Given the description of an element on the screen output the (x, y) to click on. 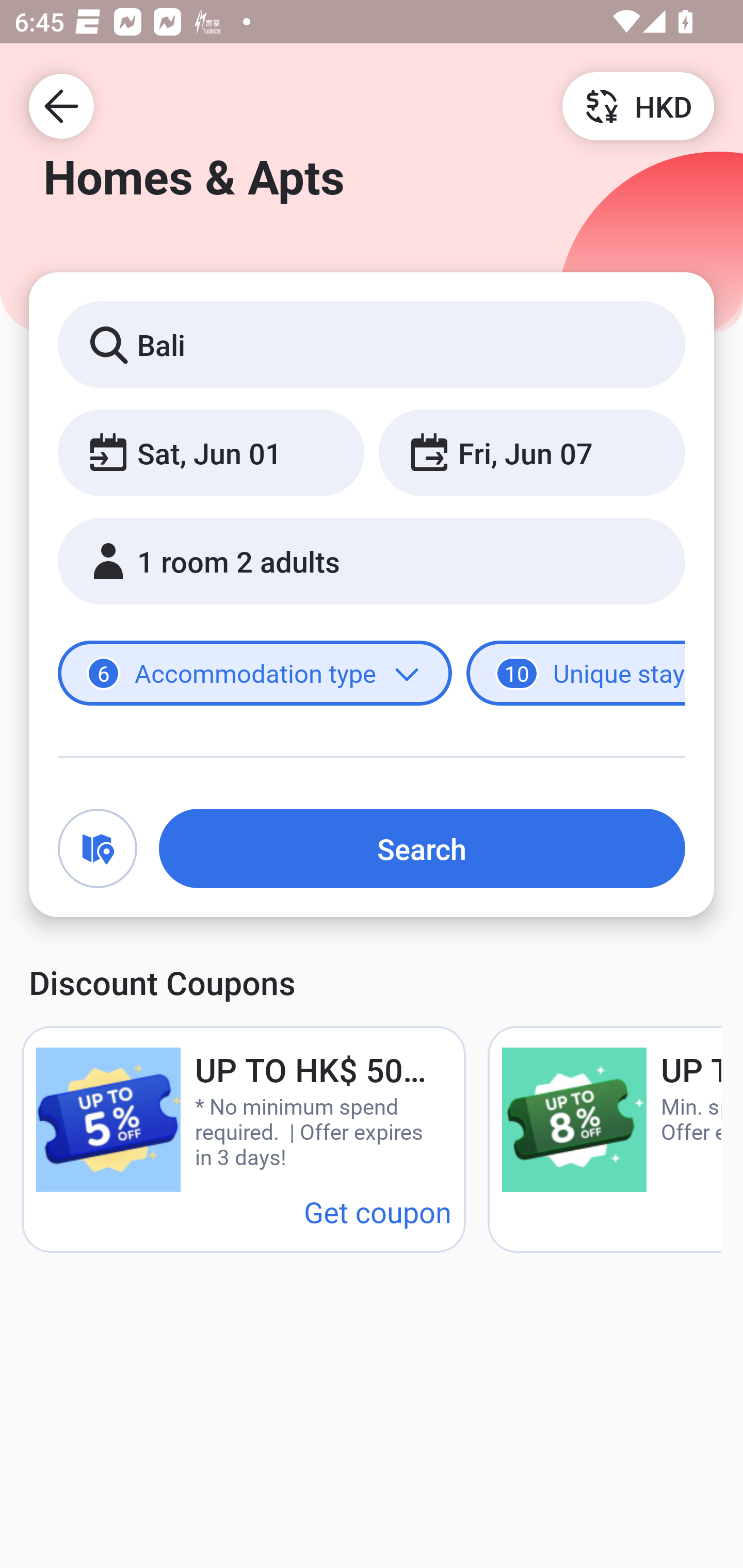
HKD (638, 105)
Bali (371, 344)
Sat, Jun 01 (210, 452)
Fri, Jun 07 (531, 452)
1 room 2 adults (371, 561)
6 Accommodation type (254, 673)
10 Unique stays (575, 673)
Search (422, 848)
Get coupon (377, 1211)
